Given the description of an element on the screen output the (x, y) to click on. 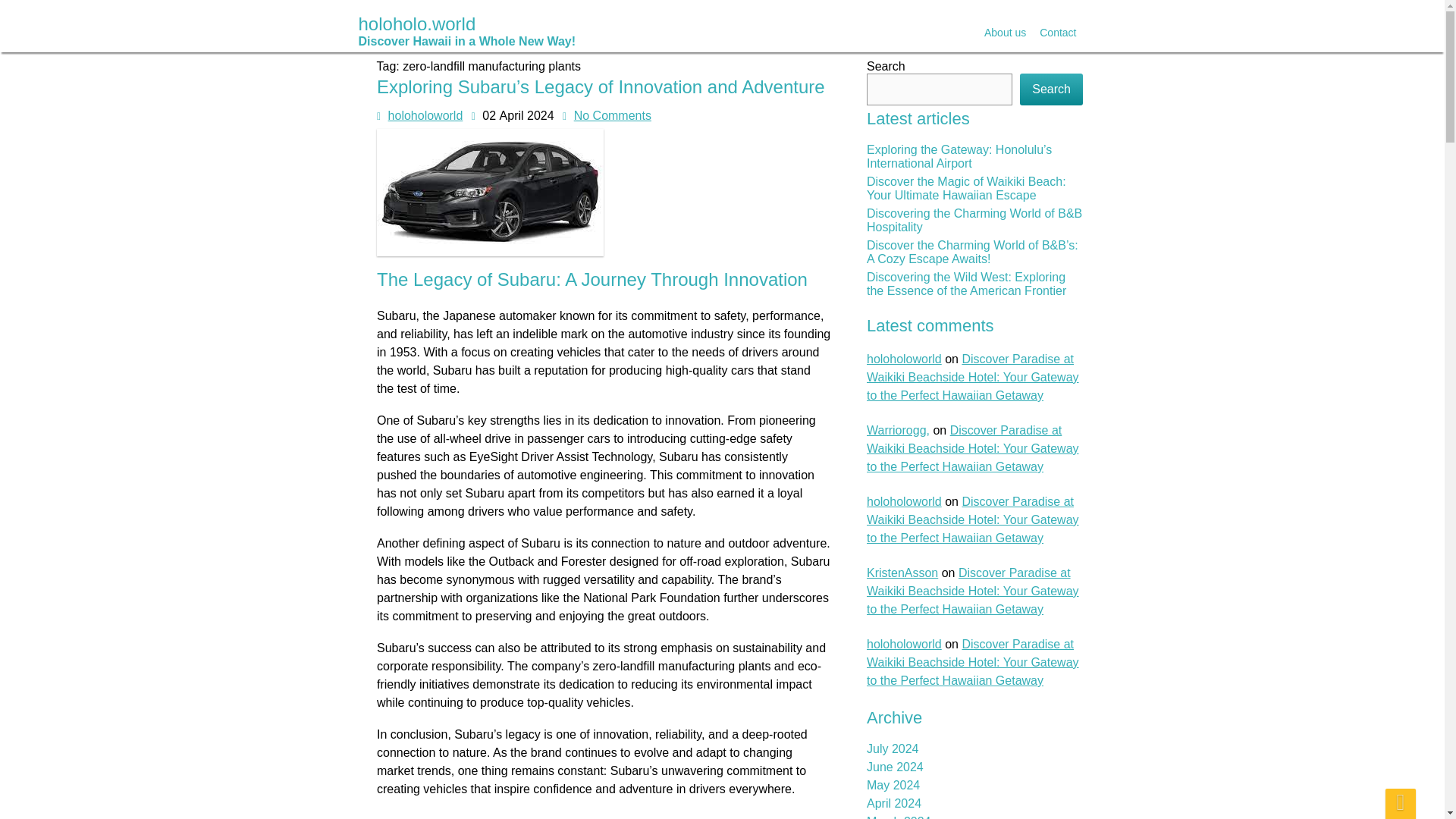
Posts by holoholoworld (425, 115)
holoholo.world (466, 22)
About us (1004, 32)
No Comments (611, 115)
holoholoworld (425, 115)
holoholo.world (466, 30)
Contact (1057, 32)
